Given the description of an element on the screen output the (x, y) to click on. 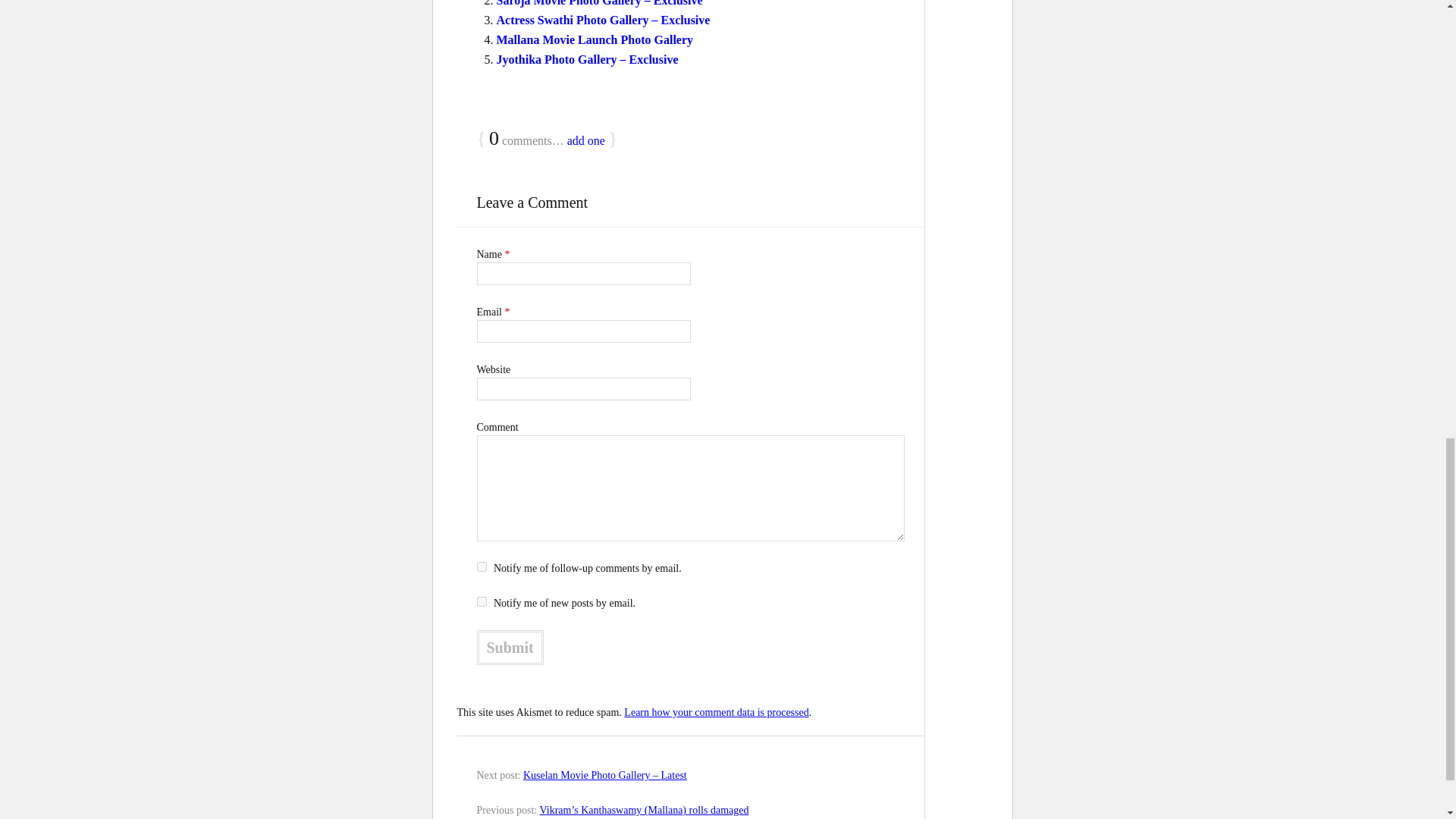
add one (586, 140)
Submit (509, 647)
subscribe (481, 601)
subscribe (481, 566)
Mallana Movie Launch Photo Gallery (594, 39)
Mallana Movie Launch Photo Gallery (594, 39)
Submit (509, 647)
